Given the description of an element on the screen output the (x, y) to click on. 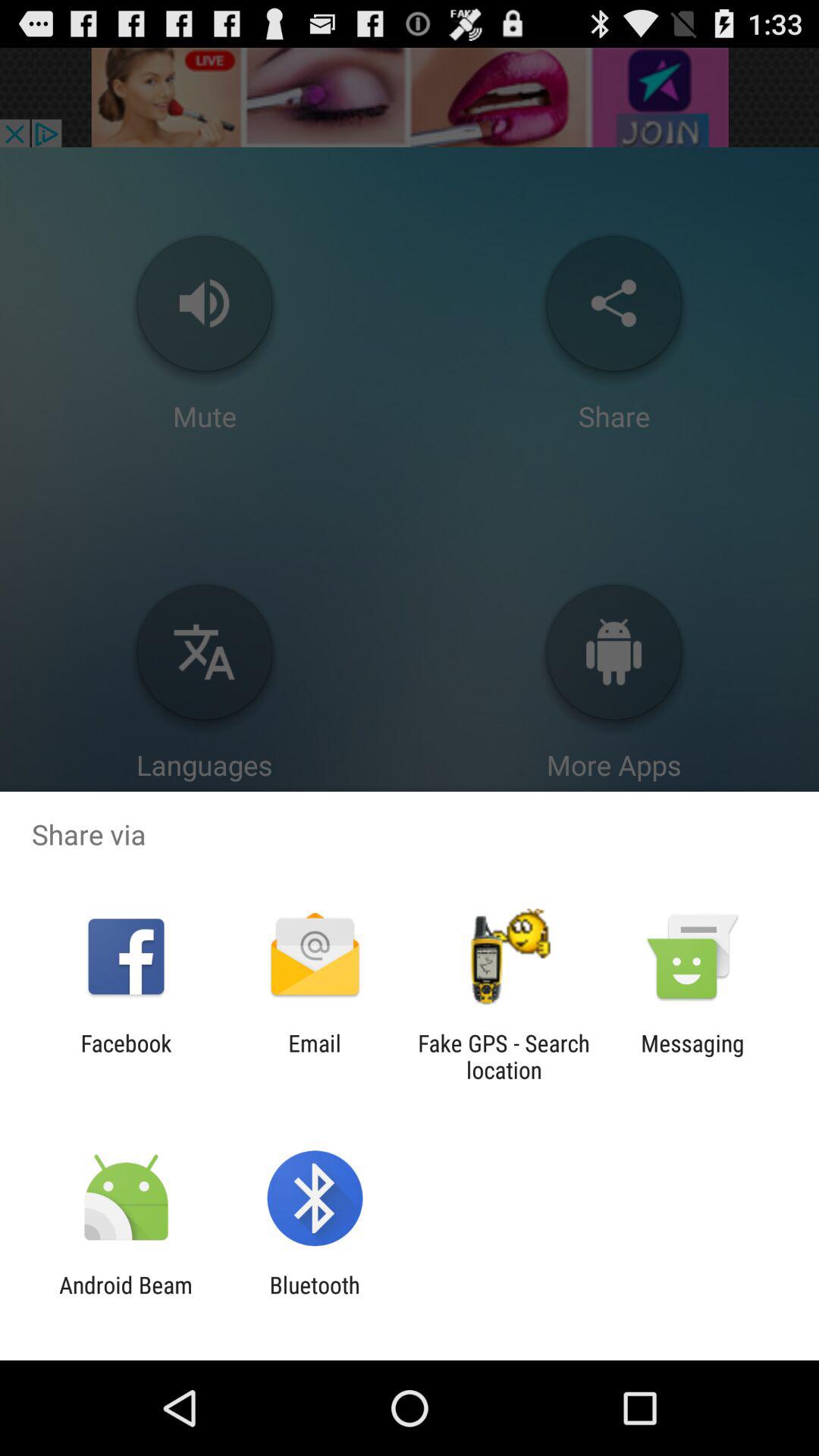
turn on the icon to the left of the fake gps search icon (314, 1056)
